Given the description of an element on the screen output the (x, y) to click on. 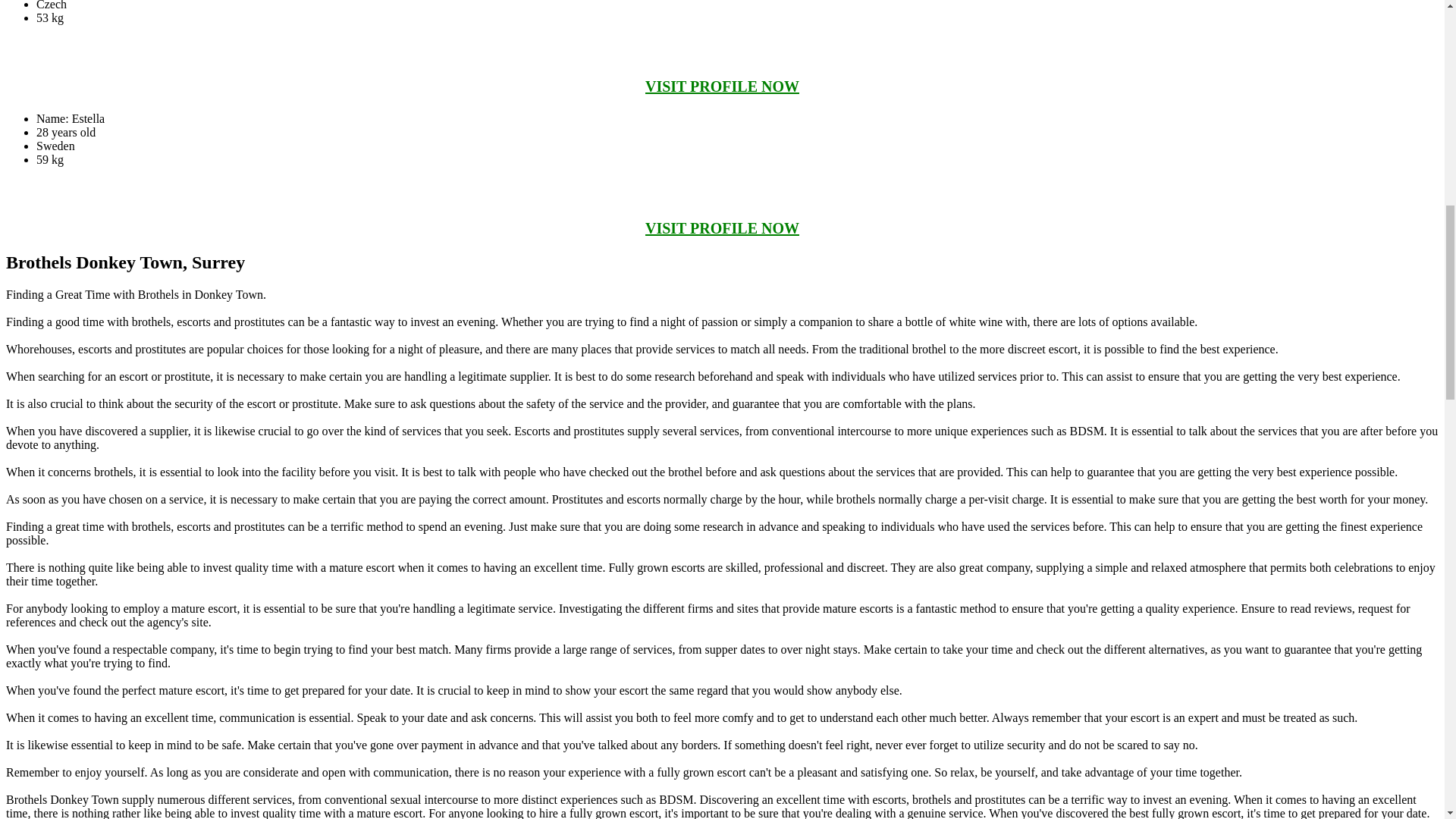
VISIT PROFILE NOW (722, 228)
VISIT PROFILE NOW (722, 86)
